Given the description of an element on the screen output the (x, y) to click on. 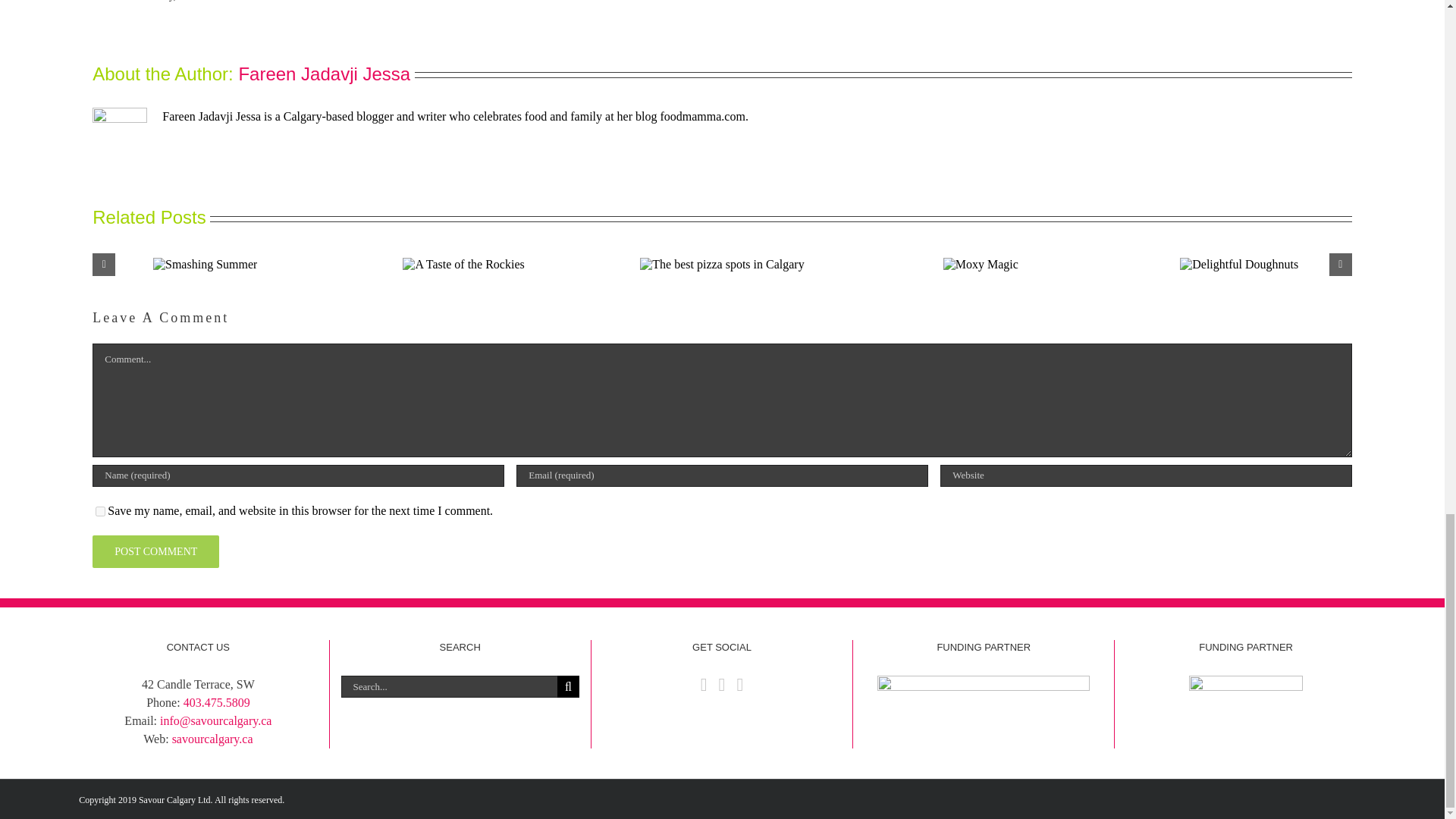
Post Comment (156, 551)
Posts by Fareen Jadavji Jessa (324, 73)
yes (100, 511)
